Given the description of an element on the screen output the (x, y) to click on. 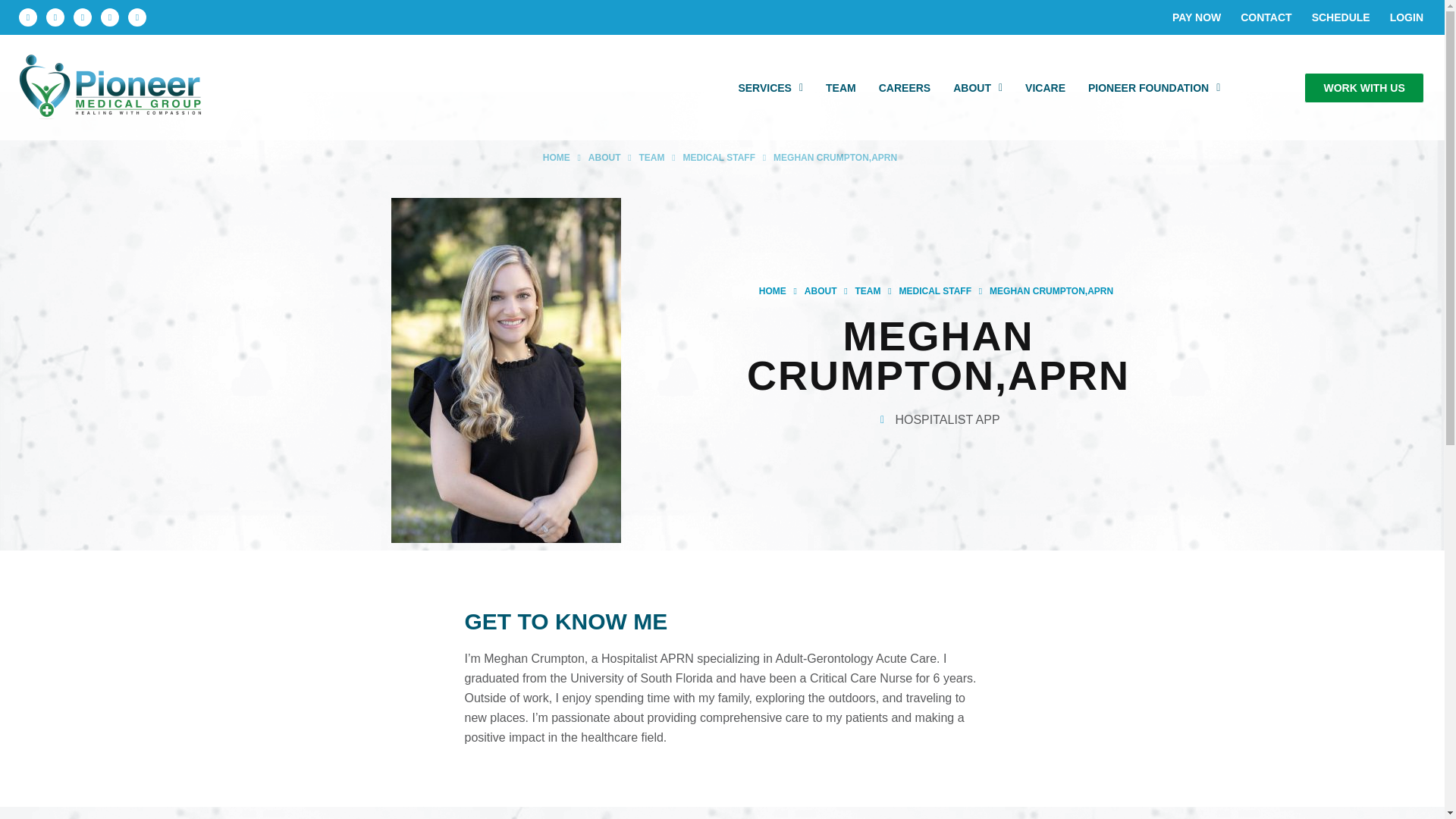
Go to the Medical Staff Department archives. (934, 291)
Go to About. (821, 291)
Go to Team. (867, 291)
Go to About. (604, 157)
Go to the Medical Staff Department archives. (718, 157)
Go to Pioneer Medical Group. (556, 157)
Go to Pioneer Medical Group. (772, 291)
Go to Team. (651, 157)
